Given the description of an element on the screen output the (x, y) to click on. 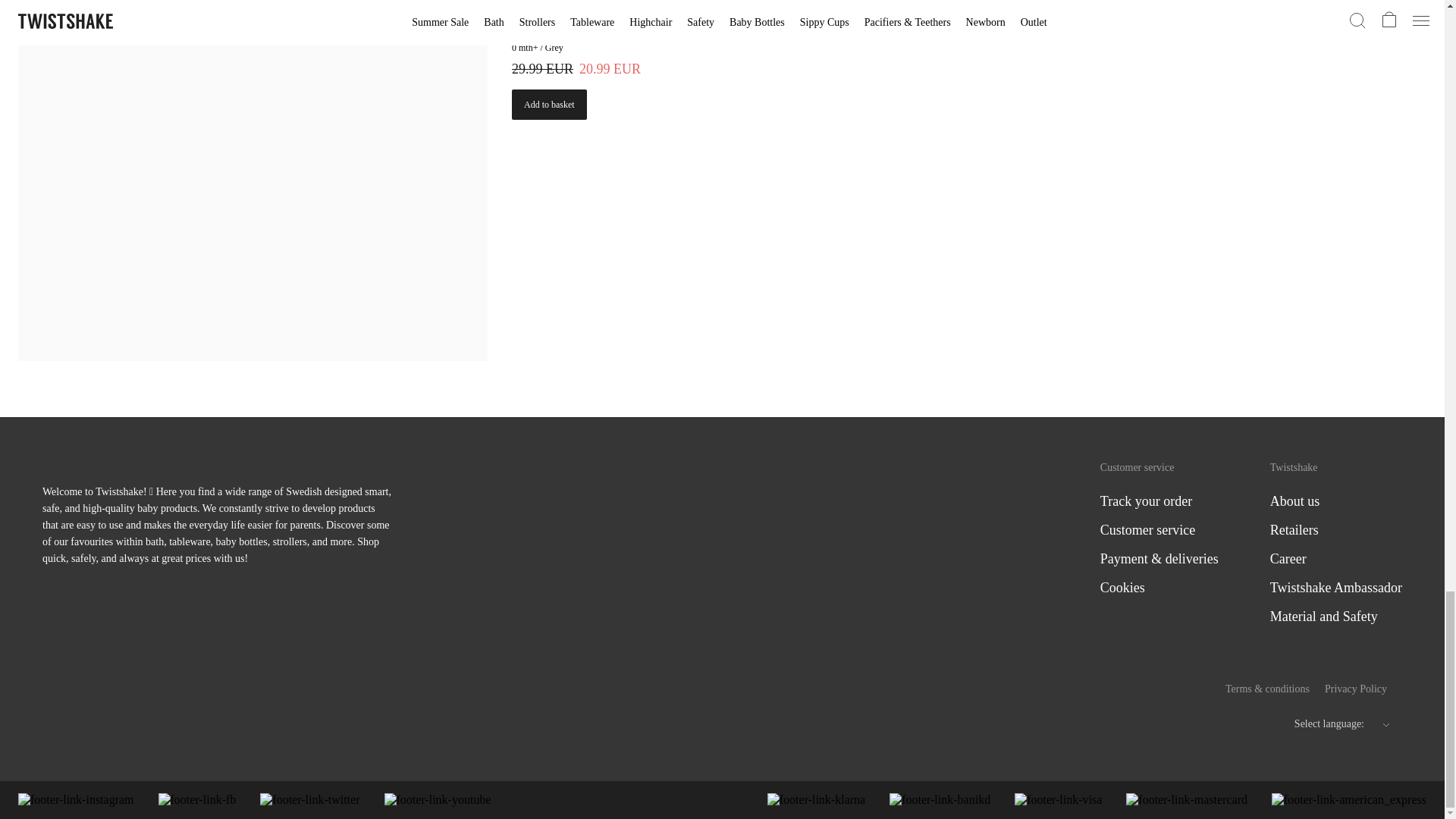
Track your order (1146, 500)
Customer service (1147, 529)
Add to basket (549, 104)
Cookies (1122, 587)
About us (1294, 500)
Twistshake Ambassador (1335, 587)
Retailers (1294, 529)
Career (1287, 558)
